Given the description of an element on the screen output the (x, y) to click on. 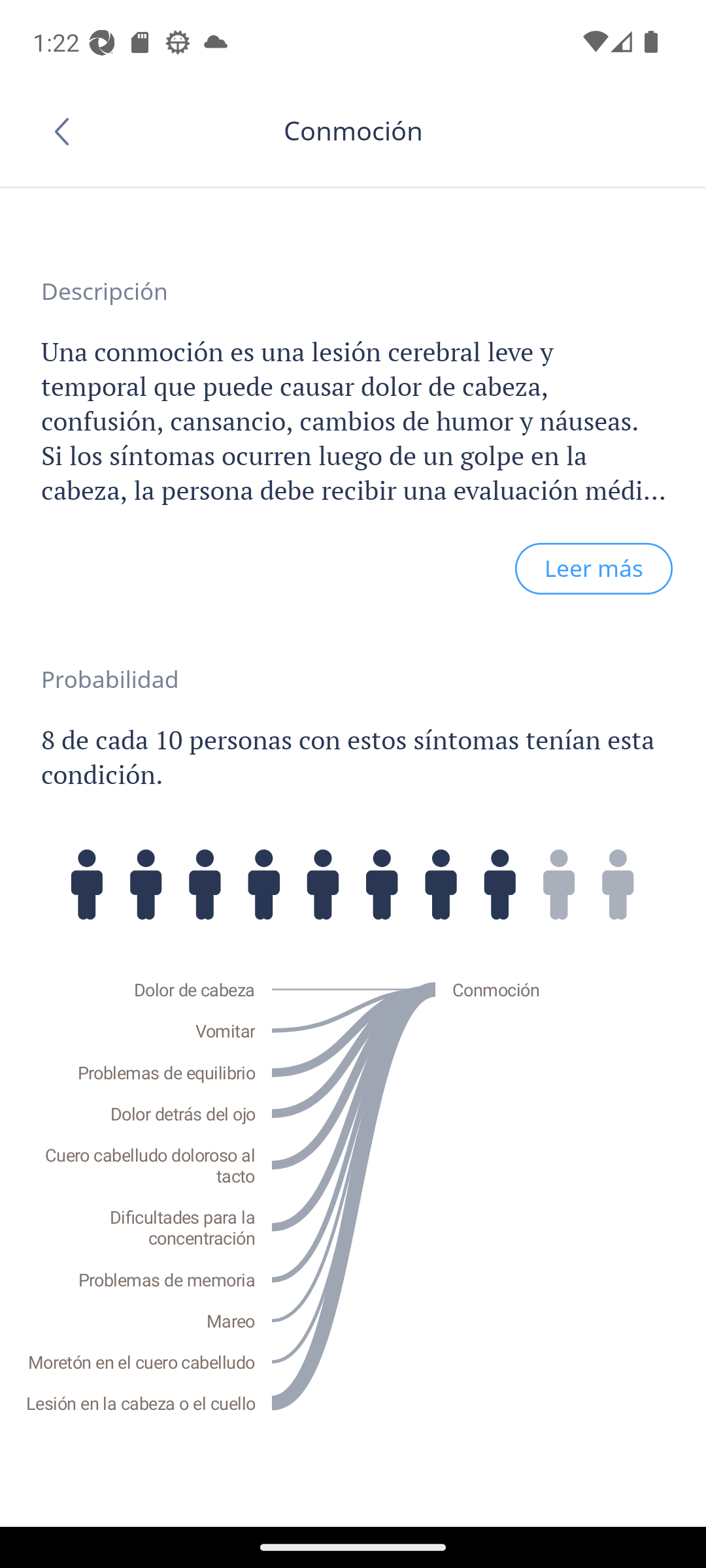
Go back, Navigates to the previous screen (68, 131)
Leer más (593, 568)
